Given the description of an element on the screen output the (x, y) to click on. 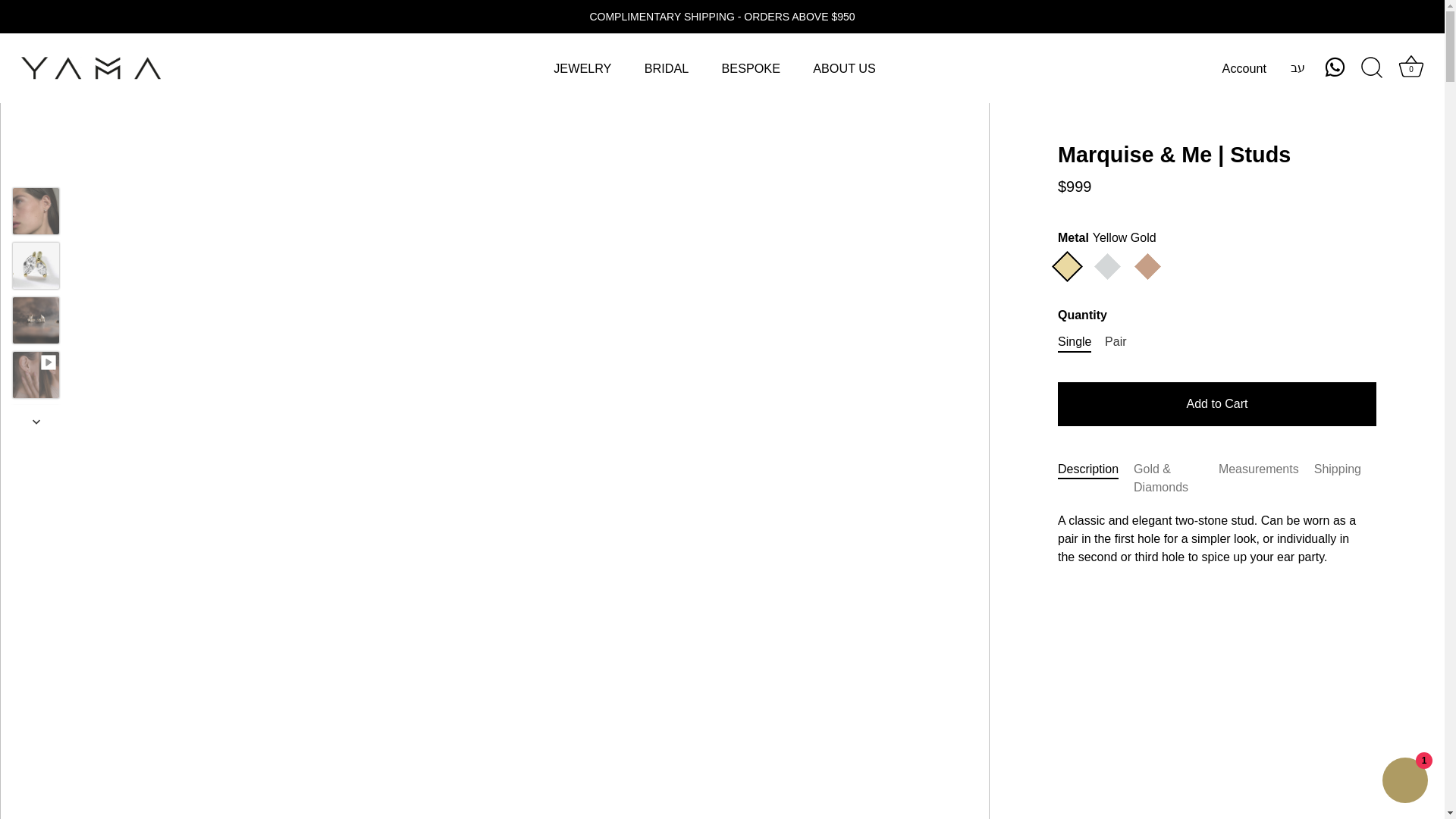
JEWELRY (582, 68)
Whatsapp (1334, 66)
Basket (1410, 66)
BRIDAL (665, 68)
Shopify online store chat (1404, 781)
